Given the description of an element on the screen output the (x, y) to click on. 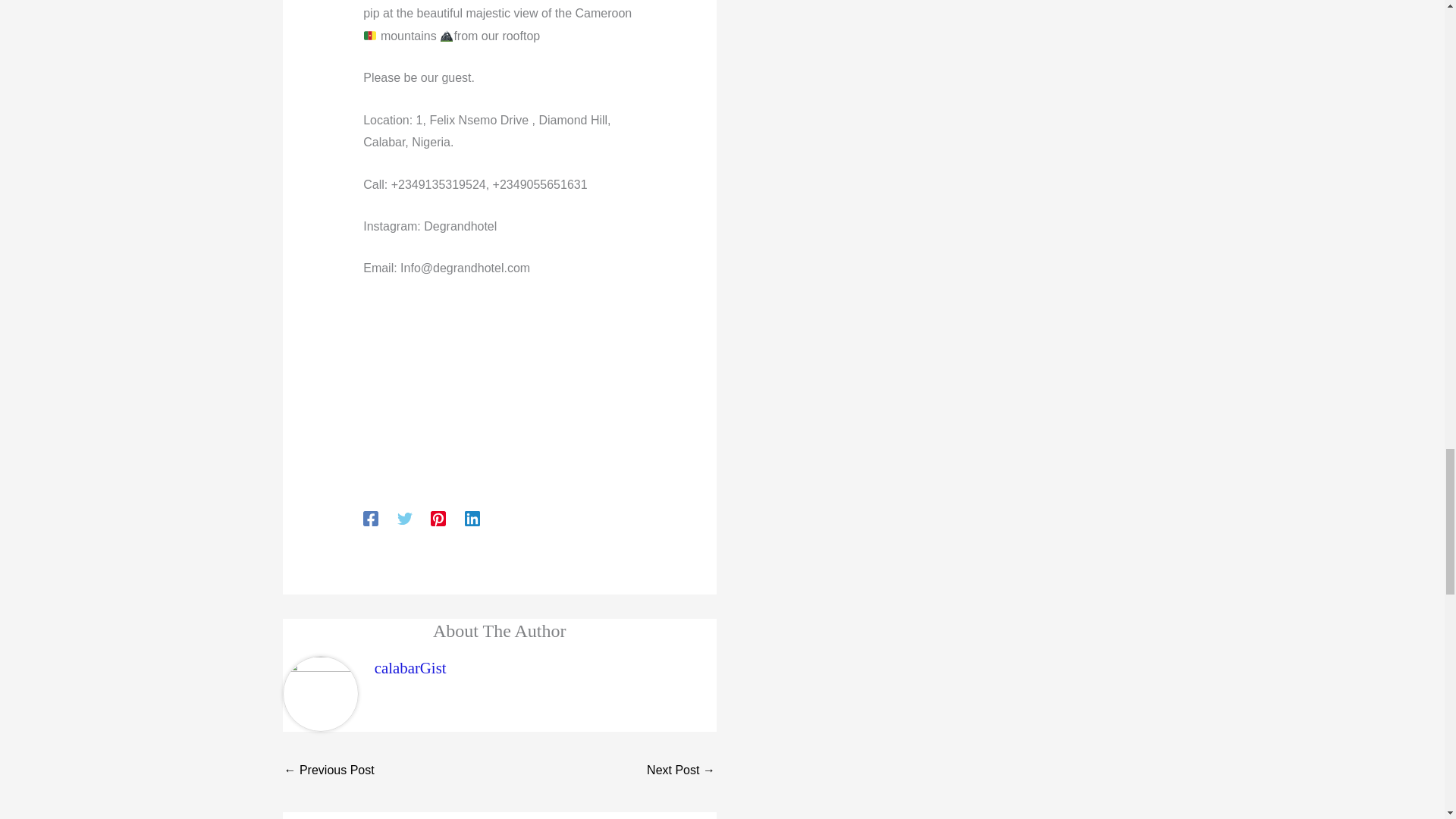
calabarGist (410, 667)
